Given the description of an element on the screen output the (x, y) to click on. 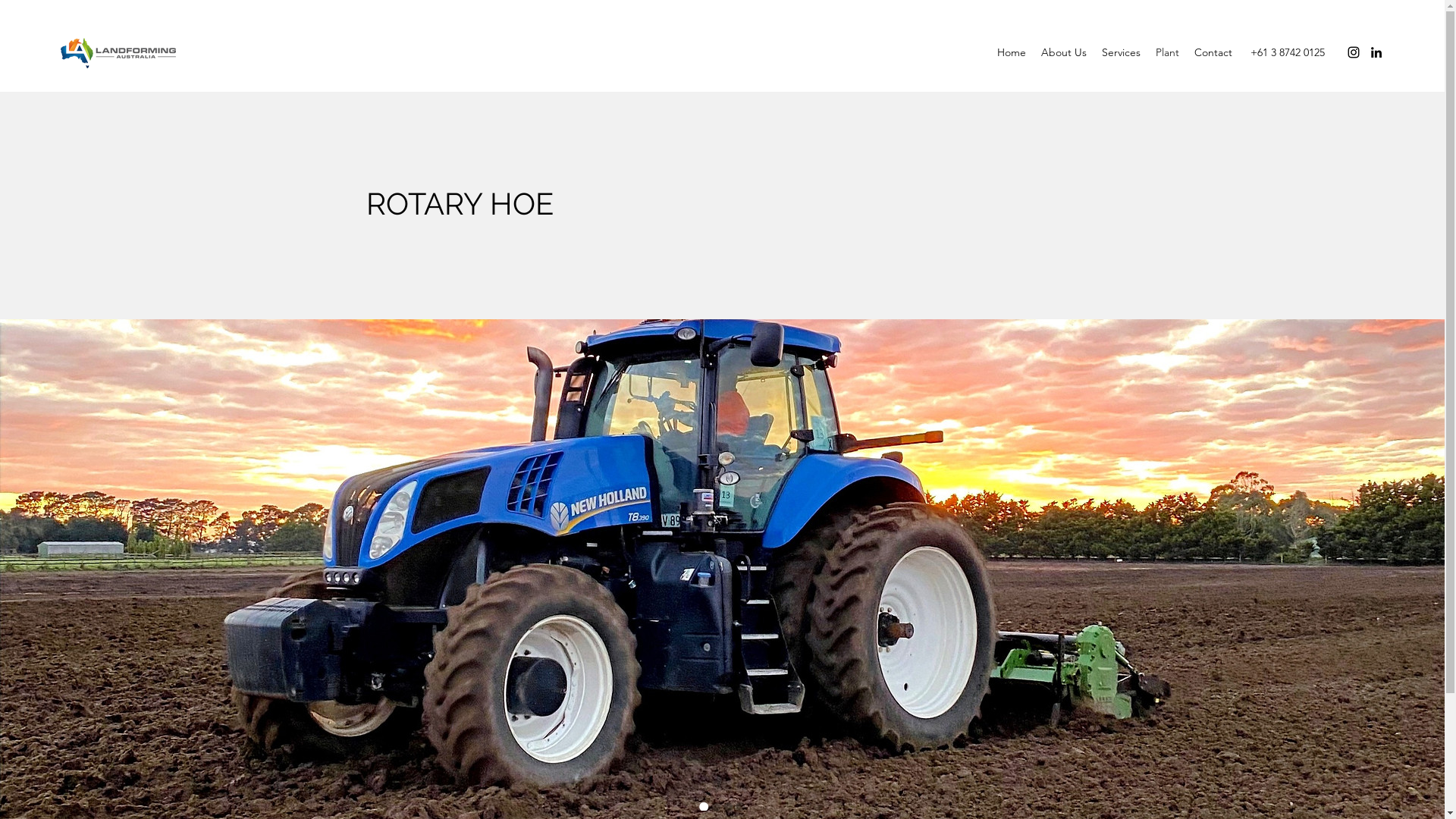
Plant Element type: text (1167, 52)
Contact Element type: text (1212, 52)
Services Element type: text (1121, 52)
About Us Element type: text (1063, 52)
Home Element type: text (1011, 52)
